Given the description of an element on the screen output the (x, y) to click on. 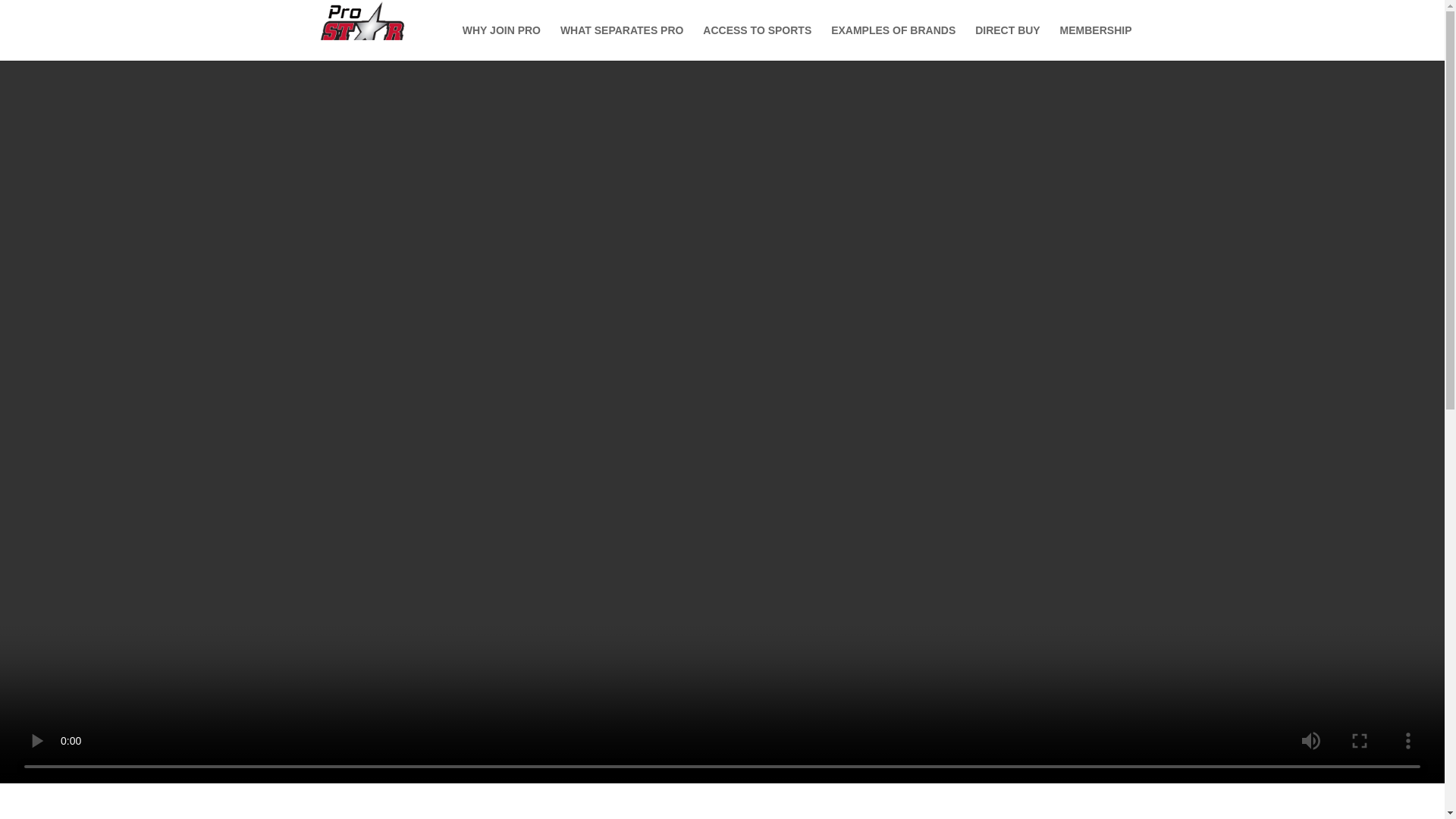
WHY JOIN PRO (501, 42)
DIRECT BUY (1008, 42)
WHAT SEPARATES PRO (622, 42)
EXAMPLES OF BRANDS (893, 42)
MEMBERSHIP (1095, 42)
ACCESS TO SPORTS (756, 42)
